Given the description of an element on the screen output the (x, y) to click on. 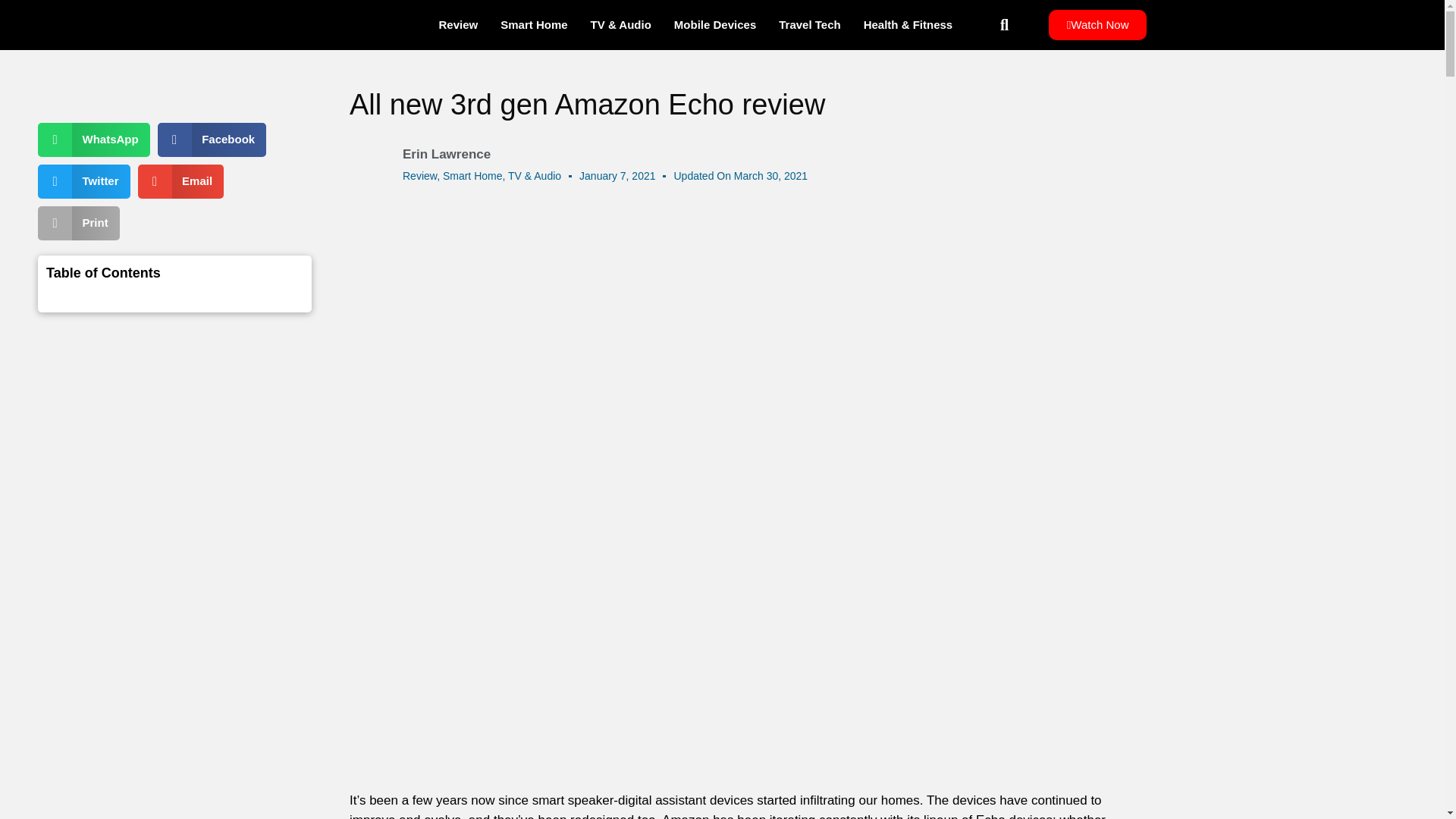
Review (419, 175)
Travel Tech (809, 24)
Mobile Devices (714, 24)
January 7, 2021 (617, 176)
Smart Home (472, 175)
Review (458, 24)
Smart Home (533, 24)
Watch Now (1097, 24)
